Given the description of an element on the screen output the (x, y) to click on. 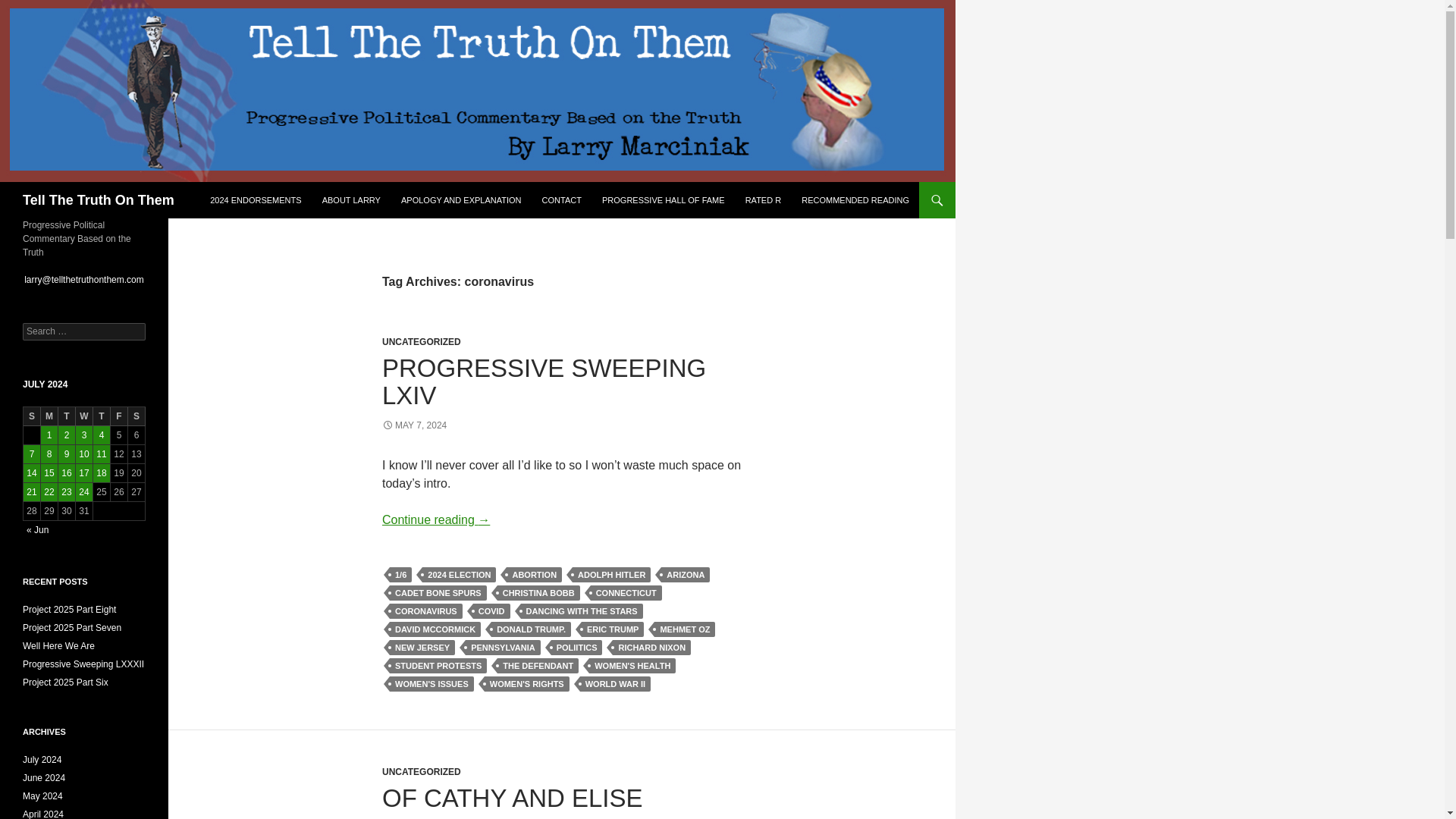
CONNECTICUT (626, 592)
APOLOGY AND EXPLANATION (461, 199)
PENNSYLVANIA (502, 647)
MAY 7, 2024 (413, 425)
MEHMET OZ (683, 629)
POLIITICS (576, 647)
CONTACT (561, 199)
CORONAVIRUS (426, 611)
STUDENT PROTESTS (438, 665)
UNCATEGORIZED (421, 341)
2024 ELECTION (459, 574)
ABORTION (534, 574)
Sunday (31, 416)
PROGRESSIVE SWEEPING LXIV (543, 381)
